Given the description of an element on the screen output the (x, y) to click on. 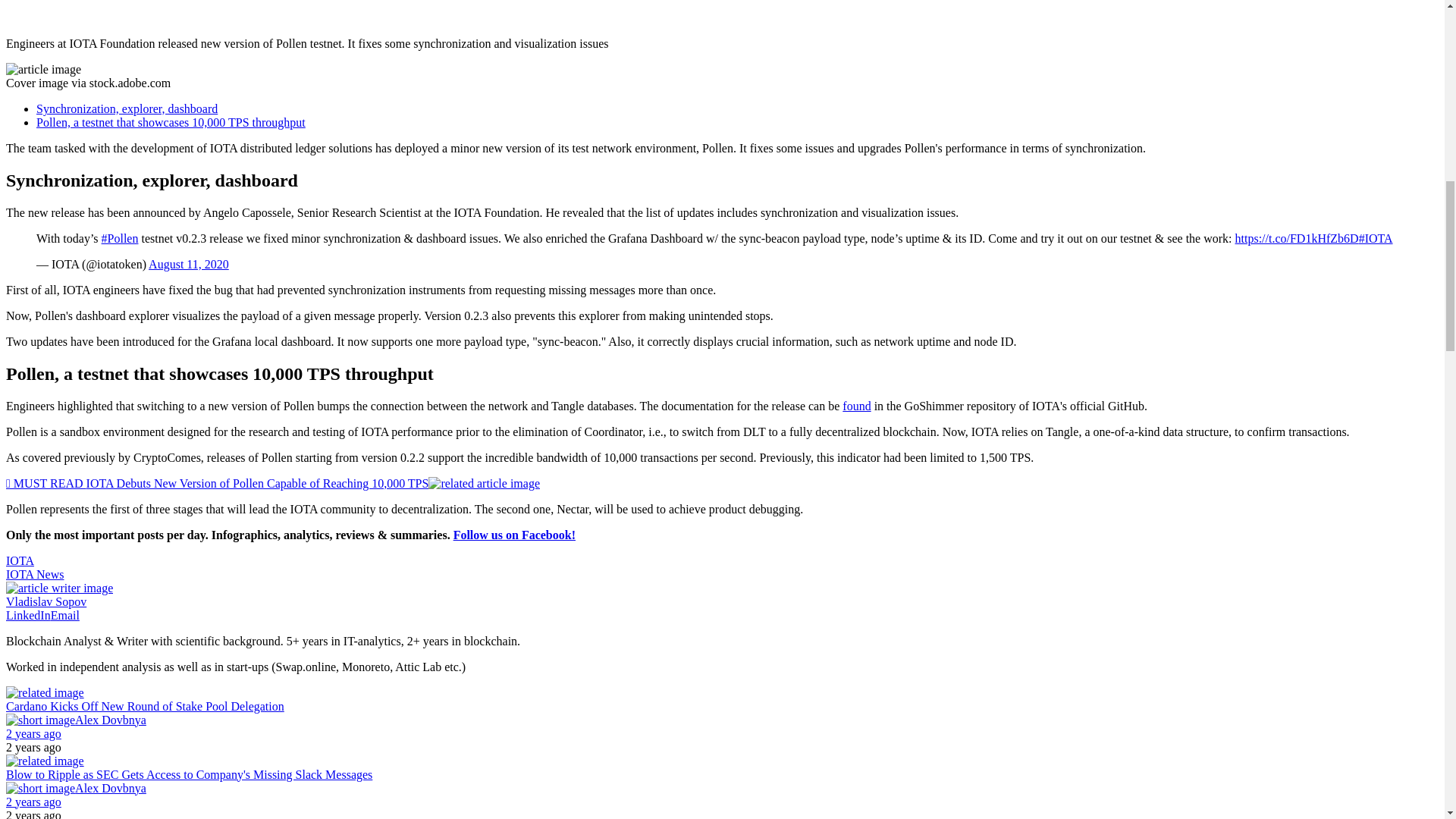
Synchronization, explorer, dashboard (126, 108)
Pollen, a testnet that showcases 10,000 TPS throughput (170, 122)
